Given the description of an element on the screen output the (x, y) to click on. 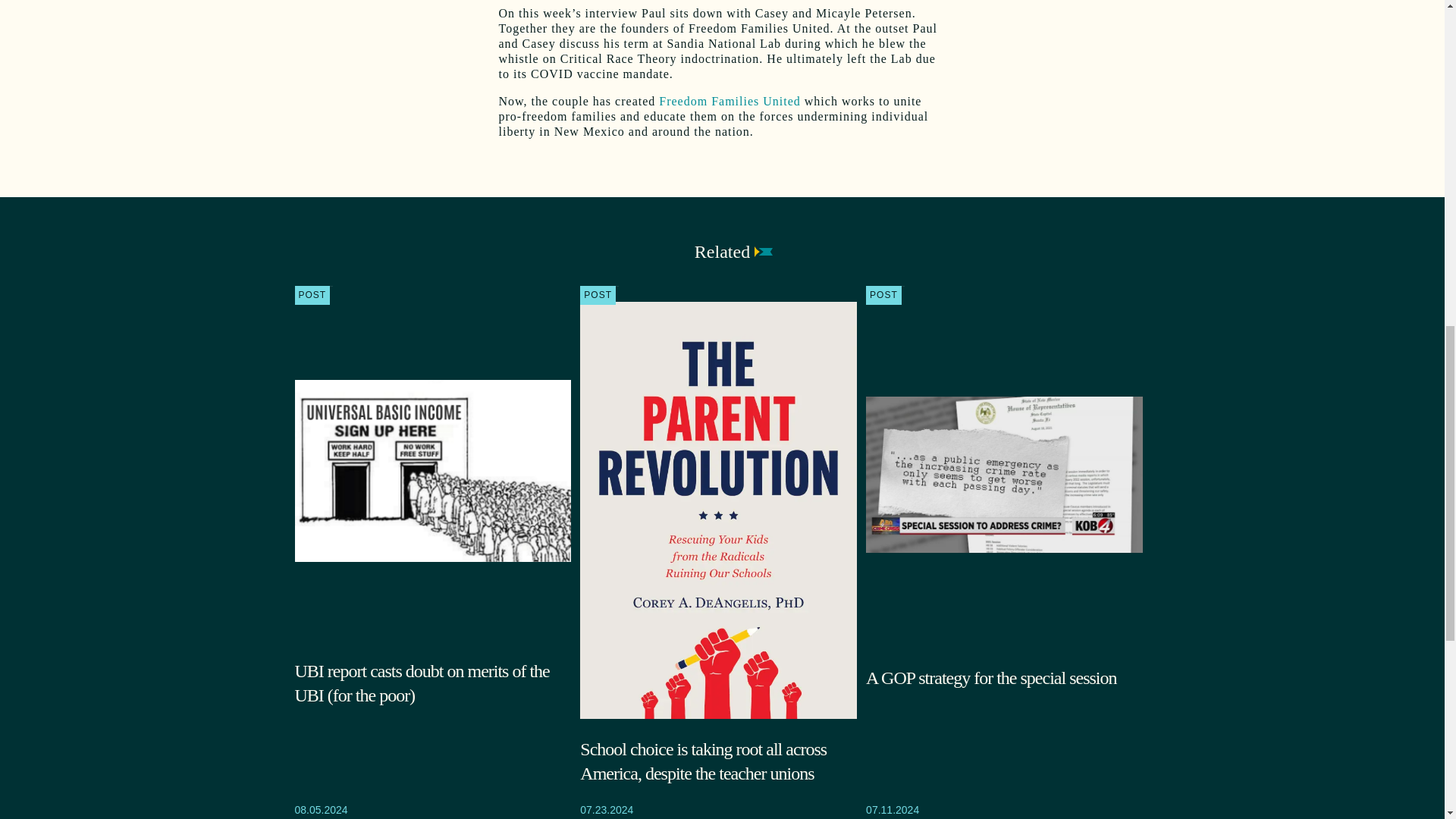
Freedom Families United (729, 101)
A GOP strategy for the special session (1004, 677)
